Given the description of an element on the screen output the (x, y) to click on. 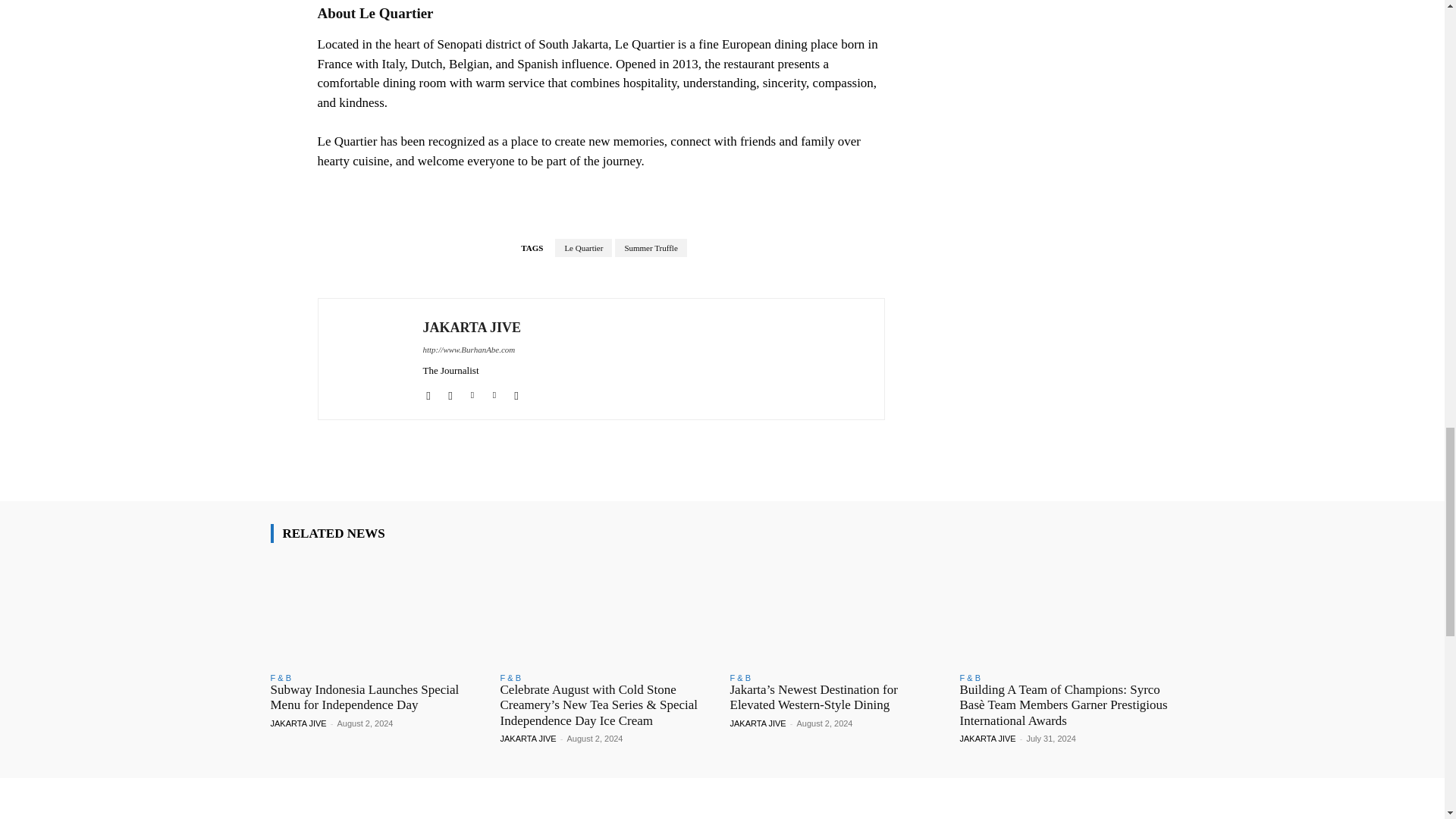
Facebook (428, 392)
